Given the description of an element on the screen output the (x, y) to click on. 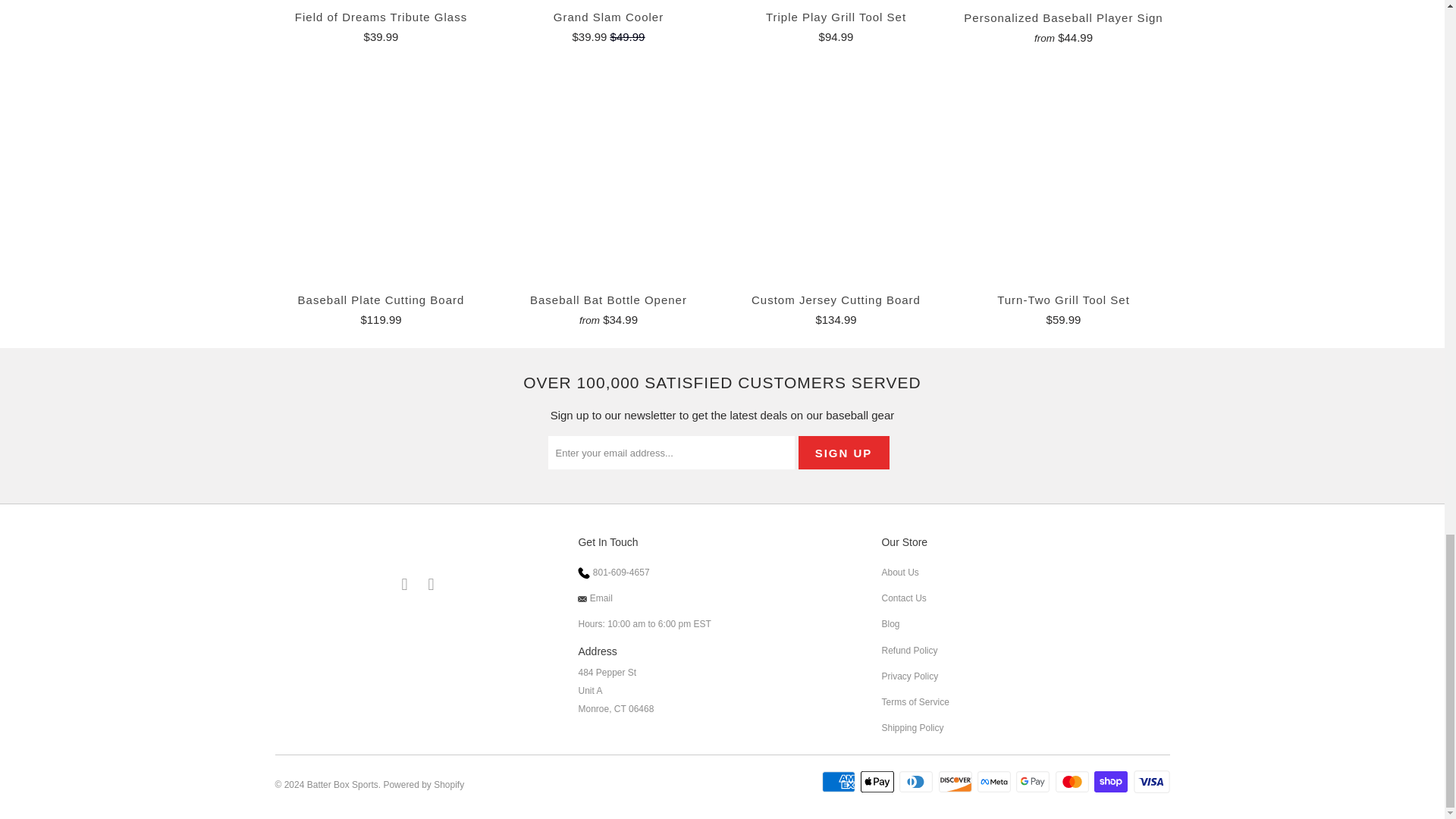
Meta Pay (994, 781)
Google Pay (1034, 781)
American Express (840, 781)
Discover (957, 781)
Visa (1150, 781)
Sign Up (842, 452)
Mastercard (1073, 781)
Email Batter Box Sports (404, 584)
Apple Pay (878, 781)
Diners Club (917, 781)
Batter Box Sports on Instagram (431, 584)
Shop Pay (1112, 781)
